Given the description of an element on the screen output the (x, y) to click on. 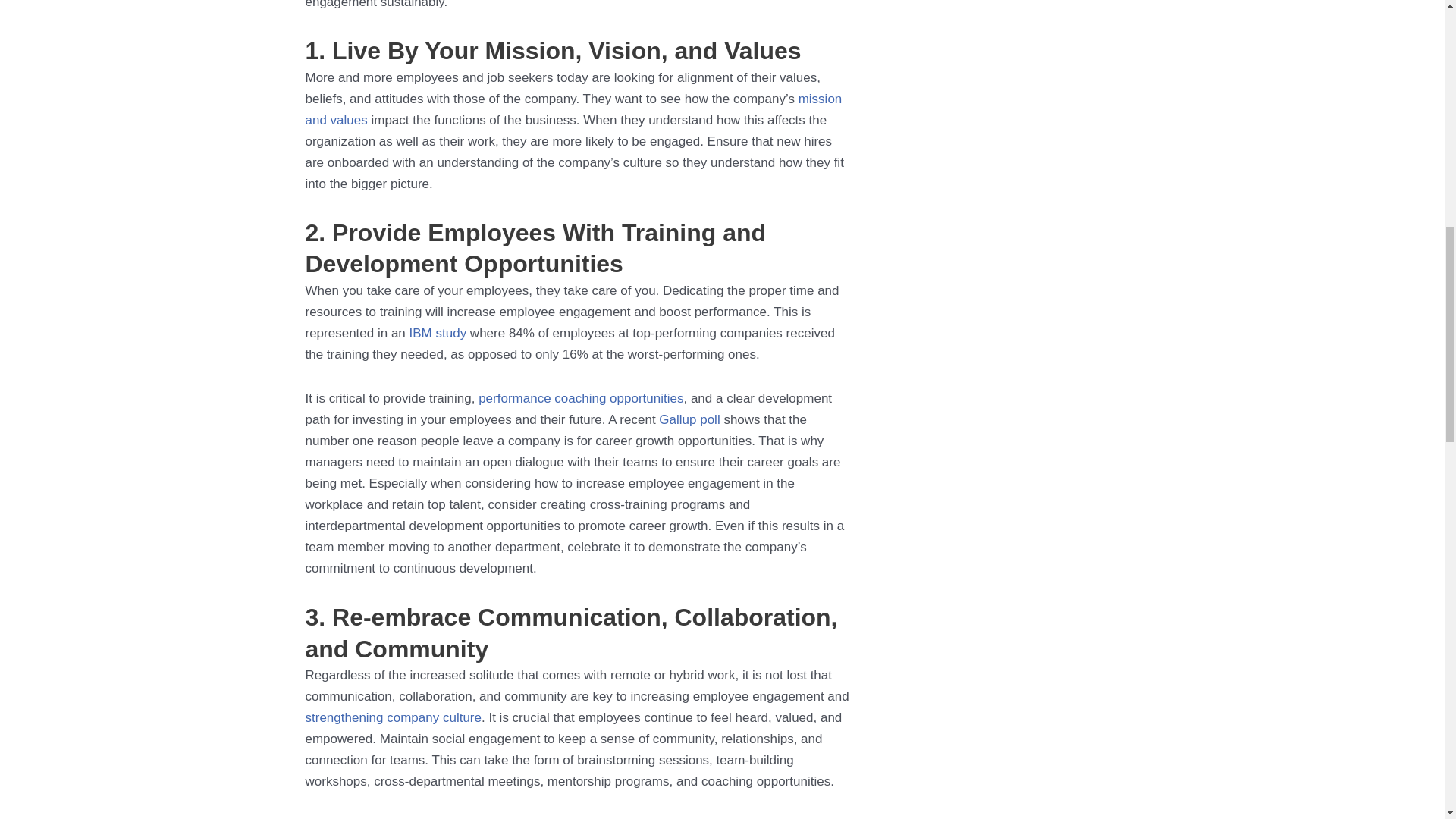
strengthening company culture (392, 717)
Gallup poll (689, 419)
IBM study (438, 332)
performance coaching opportunities (580, 398)
mission and values (572, 109)
